Given the description of an element on the screen output the (x, y) to click on. 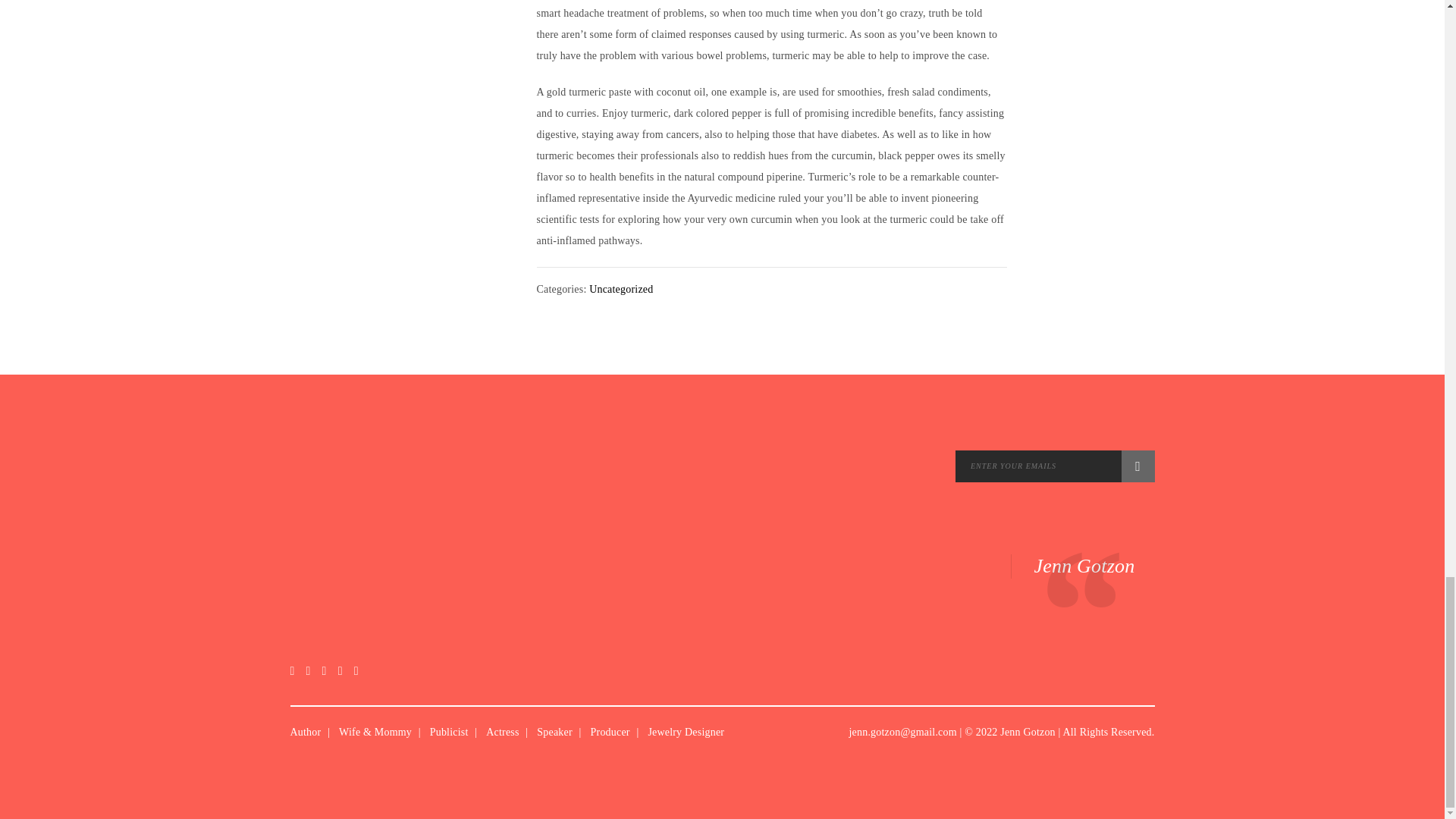
Uncategorized (620, 288)
Jenn Gotzon (1084, 566)
